Given the description of an element on the screen output the (x, y) to click on. 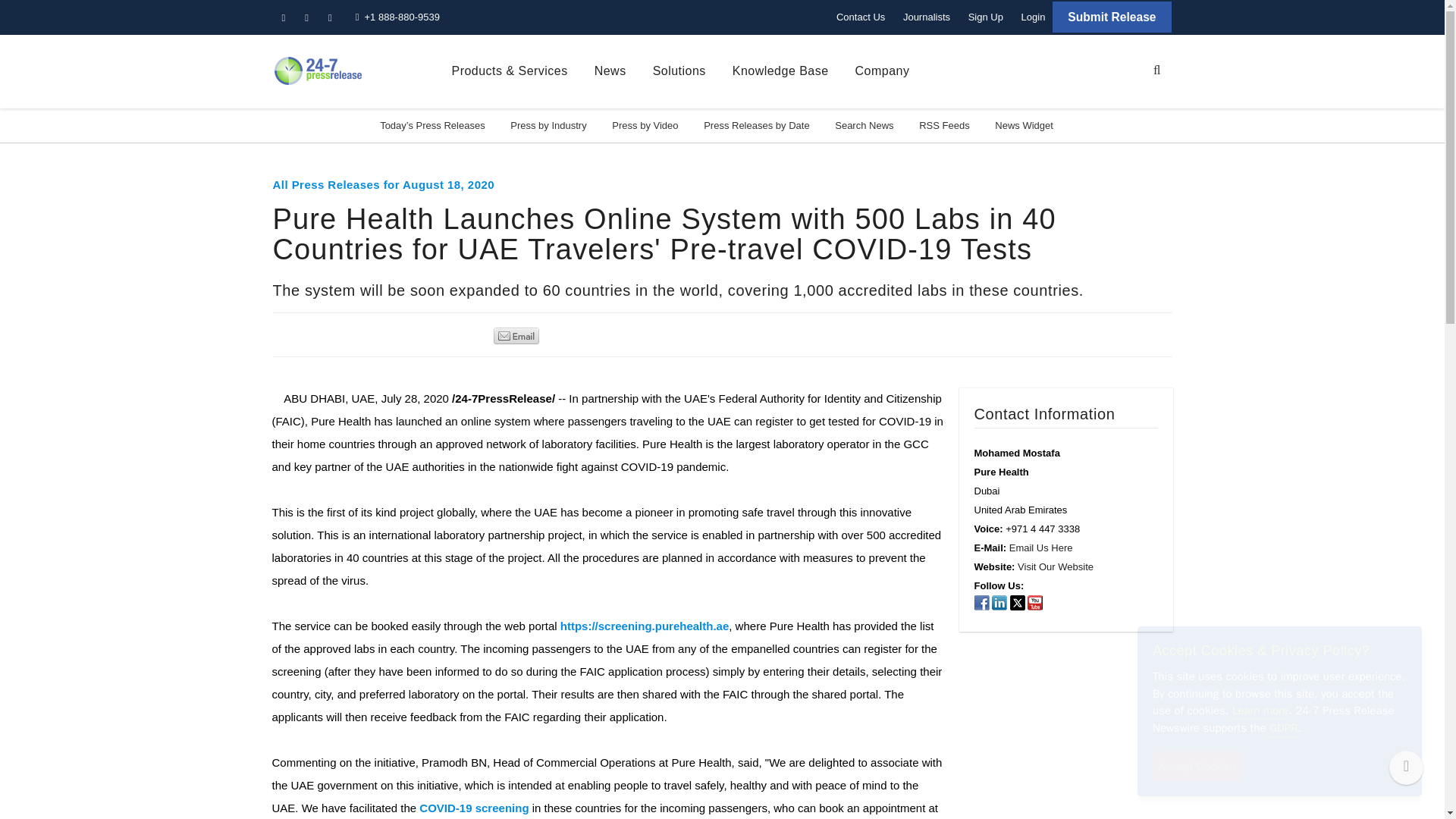
Contact Us (860, 16)
Login (1032, 16)
Journalists (926, 16)
Submit Release (1111, 16)
Knowledge Base (780, 71)
Solutions (679, 71)
Company (882, 71)
Sign Up (985, 16)
